Given the description of an element on the screen output the (x, y) to click on. 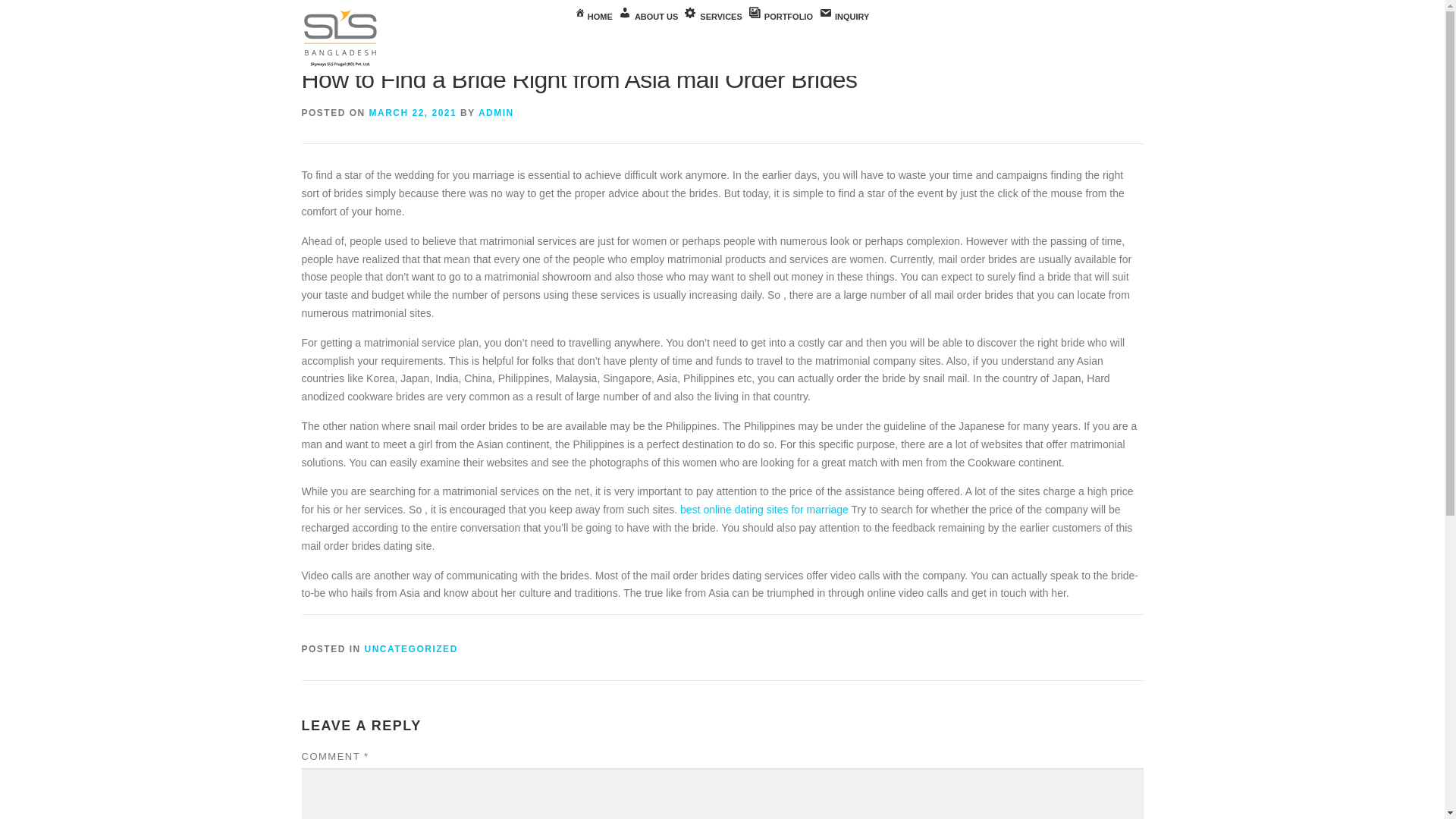
Skip to content (34, 9)
MARCH 22, 2021 (413, 112)
best online dating sites for marriage (763, 509)
HOME (593, 16)
SERVICES (713, 16)
INQUIRY (843, 16)
UNCATEGORIZED (411, 648)
ADMIN (496, 112)
PORTFOLIO (779, 16)
ABOUT US (648, 16)
